Given the description of an element on the screen output the (x, y) to click on. 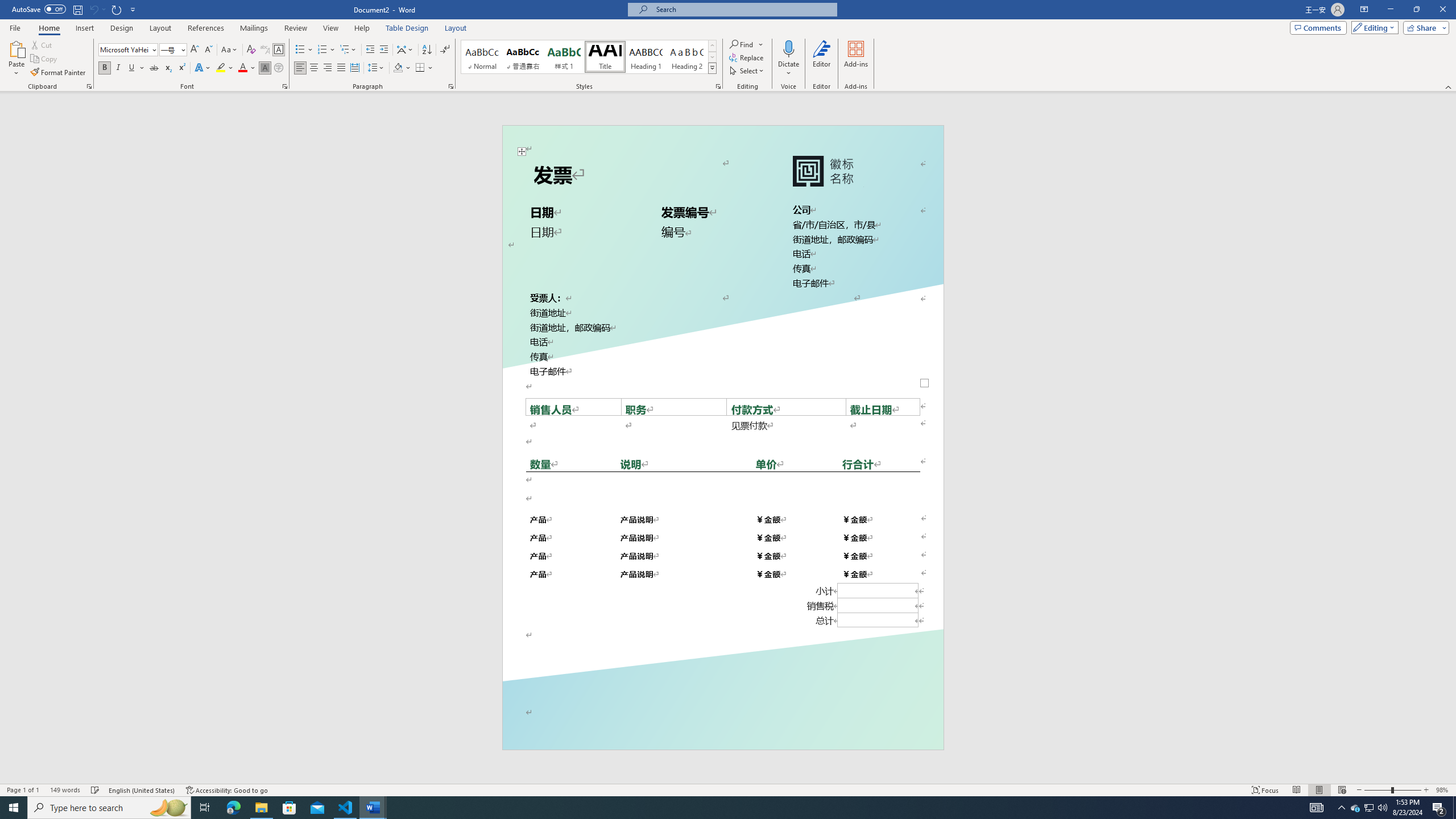
Change Case (229, 49)
Font (128, 49)
Open (182, 49)
AutoSave (38, 9)
Print Layout (1318, 790)
View (330, 28)
Paste (16, 48)
Web Layout (1342, 790)
Spelling and Grammar Check Checking (94, 790)
Character Border (278, 49)
Restore Down (1416, 9)
File Tab (15, 27)
Font Color RGB(255, 0, 0) (241, 67)
Office Clipboard... (88, 85)
Phonetic Guide... (264, 49)
